Given the description of an element on the screen output the (x, y) to click on. 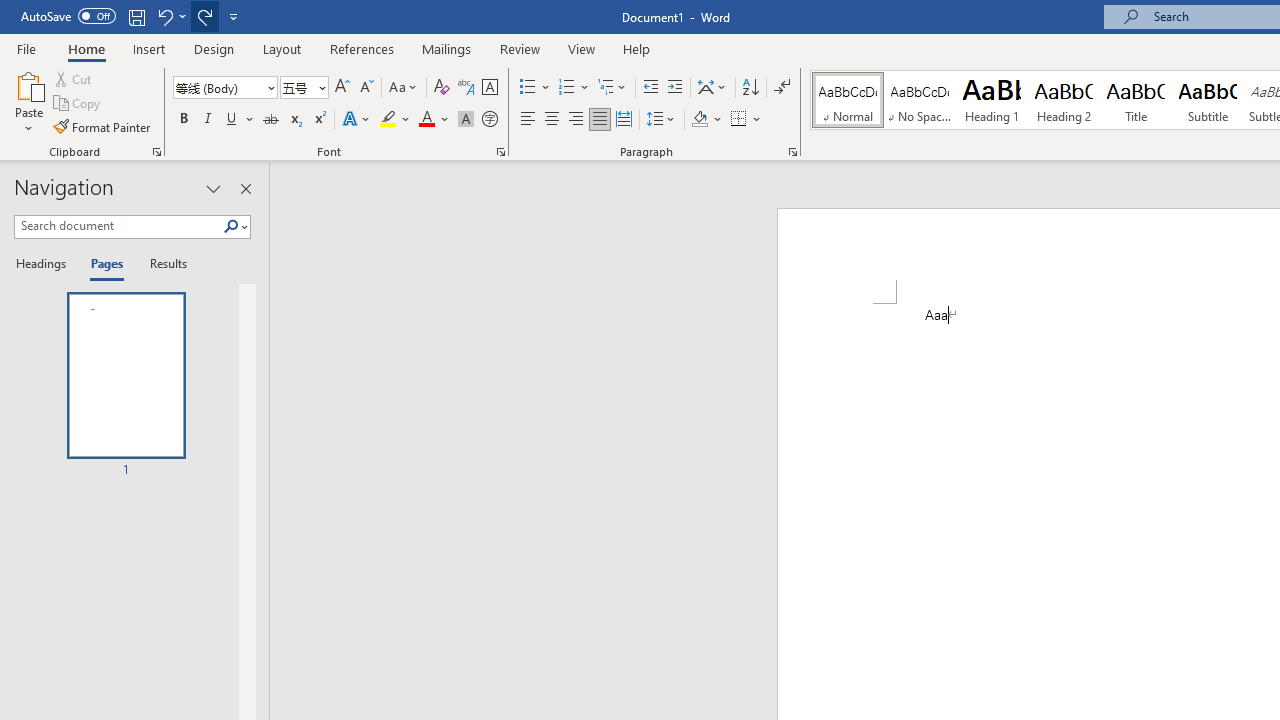
Office Clipboard... (156, 151)
Show/Hide Editing Marks (781, 87)
Undo Apply Quick Style (164, 15)
Review (520, 48)
Numbering (566, 87)
Strikethrough (270, 119)
Line and Paragraph Spacing (661, 119)
Shading (706, 119)
Undo Apply Quick Style (170, 15)
Shrink Font (365, 87)
Superscript (319, 119)
Bullets (535, 87)
Borders (739, 119)
View (582, 48)
Font (224, 87)
